Given the description of an element on the screen output the (x, y) to click on. 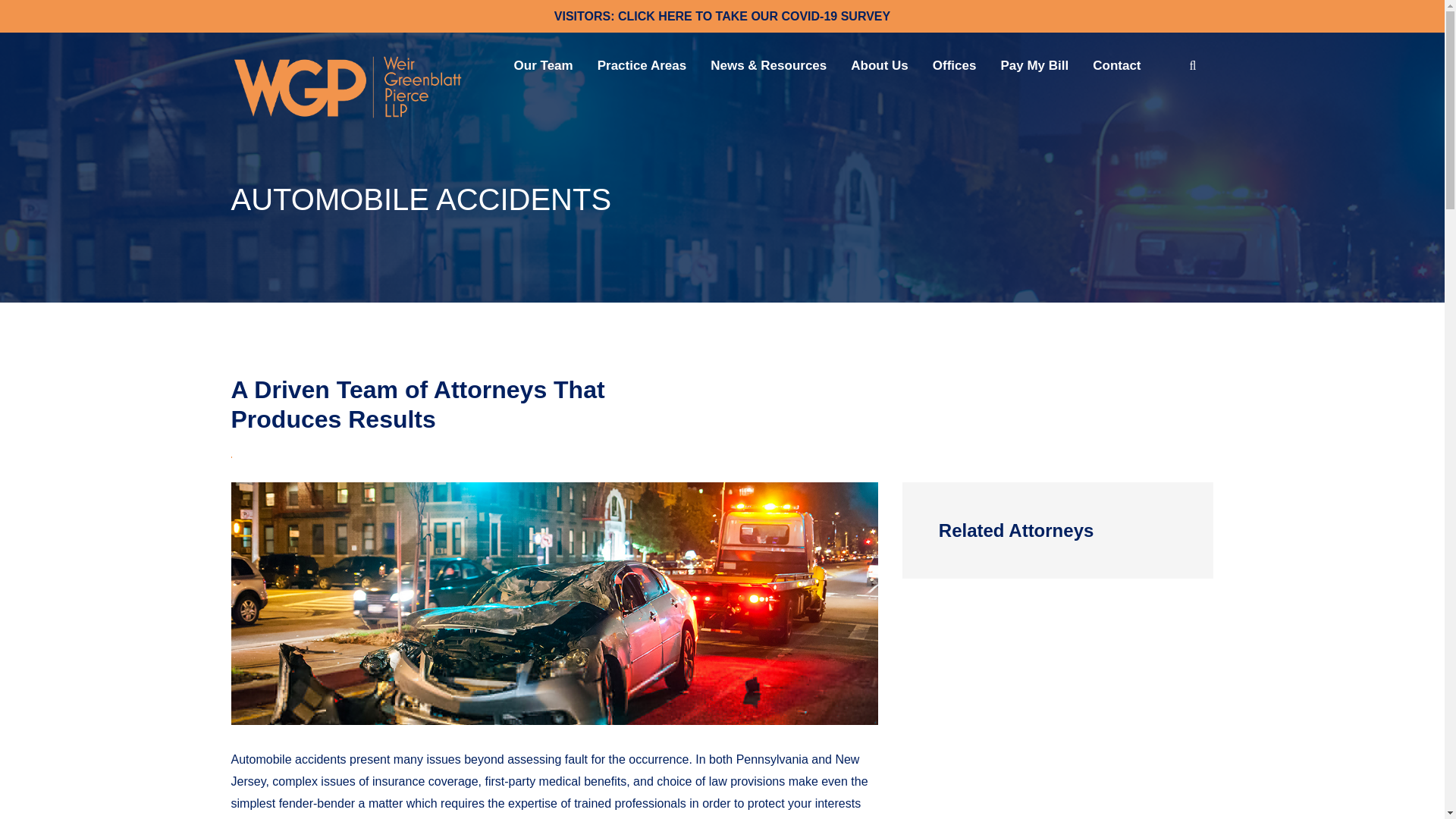
Our Team (554, 65)
Offices (967, 65)
Practice Areas (653, 65)
Pay My Bill (1046, 65)
VISITORS: CLICK HERE TO TAKE OUR COVID-19 SURVEY (721, 15)
About Us (891, 65)
Contact (1128, 65)
